Given the description of an element on the screen output the (x, y) to click on. 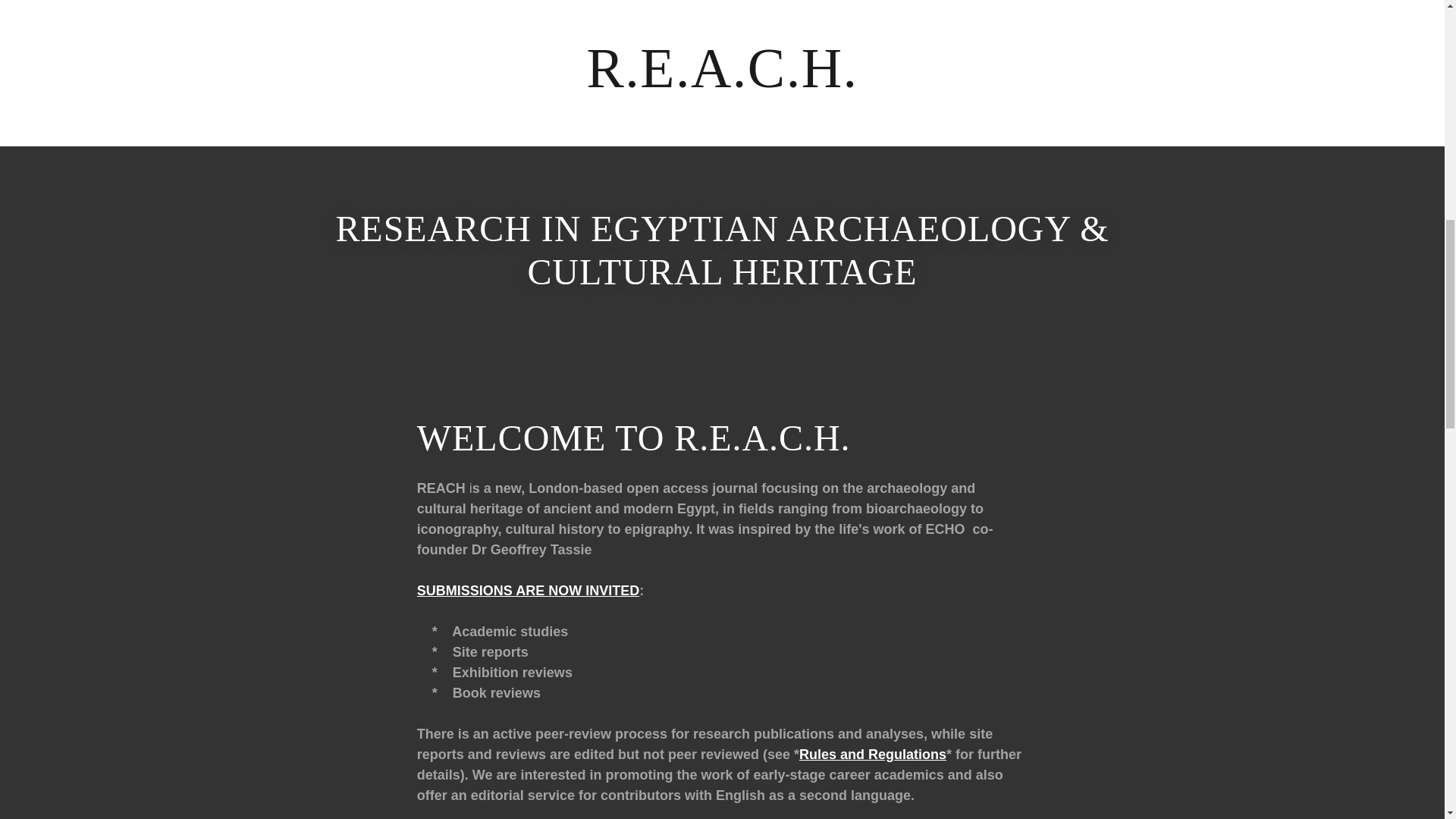
SUBMISSIONS ARE NOW INVITED (527, 590)
Rules and Regulations (872, 754)
DECLINE (1203, 324)
ACCEPT (1345, 324)
